Given the description of an element on the screen output the (x, y) to click on. 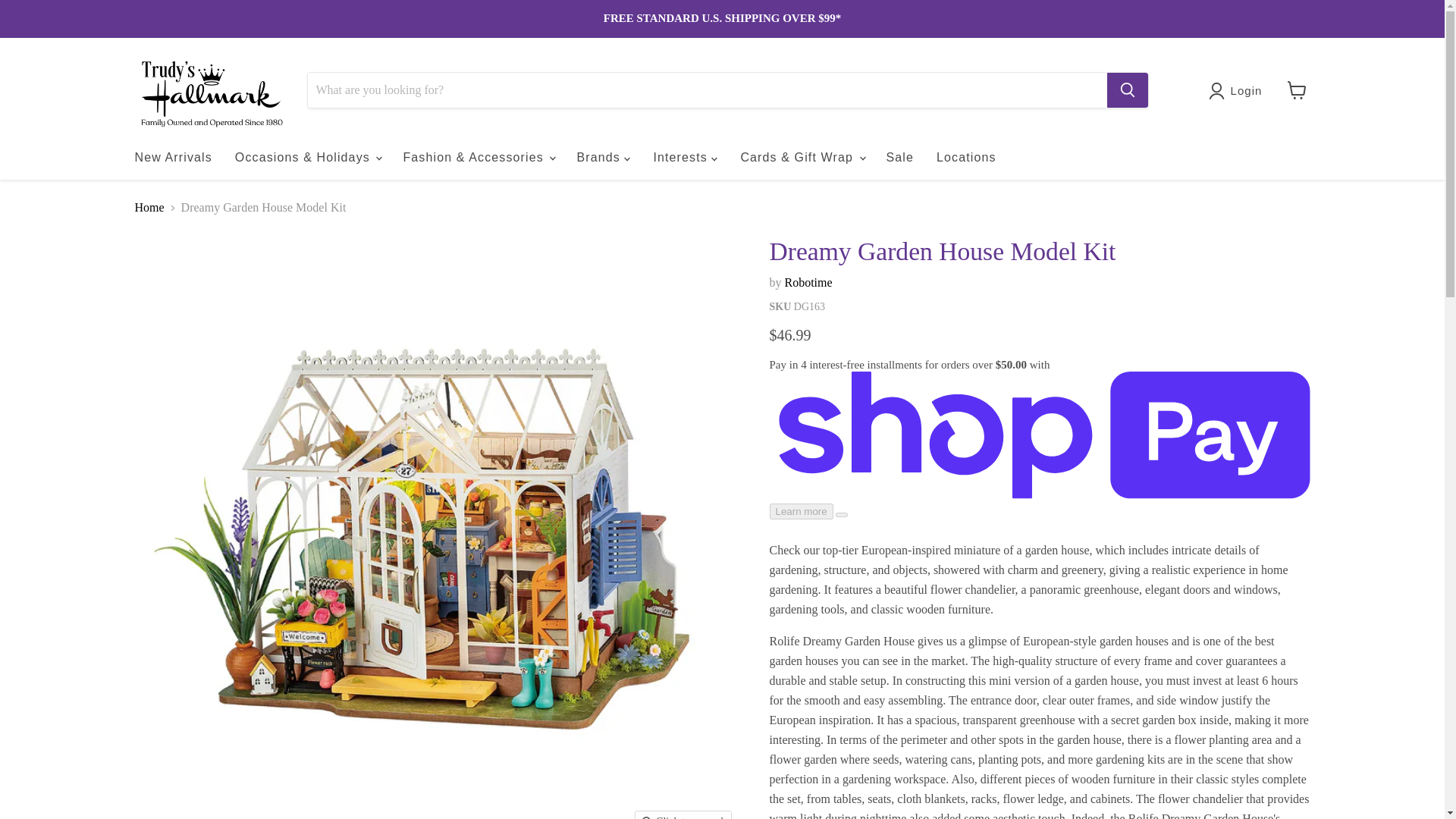
Robotime (807, 282)
New Arrivals (172, 157)
Login (1238, 90)
View cart (1296, 90)
